Given the description of an element on the screen output the (x, y) to click on. 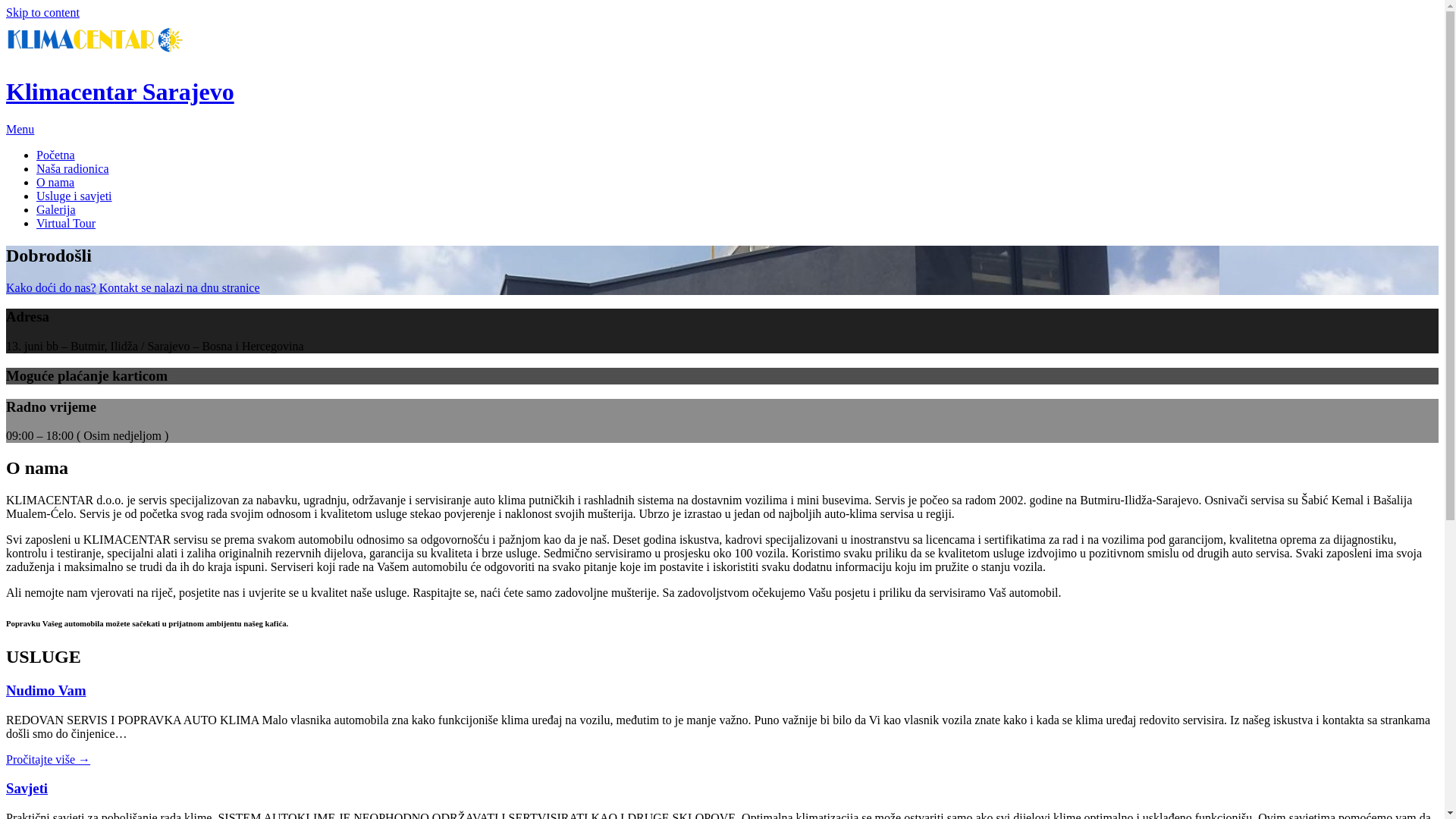
Virtual Tour Element type: text (65, 222)
Nudimo Vam Element type: text (46, 690)
Kontakt se nalazi na dnu stranice Element type: text (179, 287)
Skip to content Element type: text (42, 12)
Menu Element type: text (20, 128)
O nama Element type: text (55, 181)
Galerija Element type: text (55, 209)
Usluge i savjeti Element type: text (74, 195)
Savjeti Element type: text (26, 788)
Klimacentar Sarajevo Element type: text (120, 91)
